Given the description of an element on the screen output the (x, y) to click on. 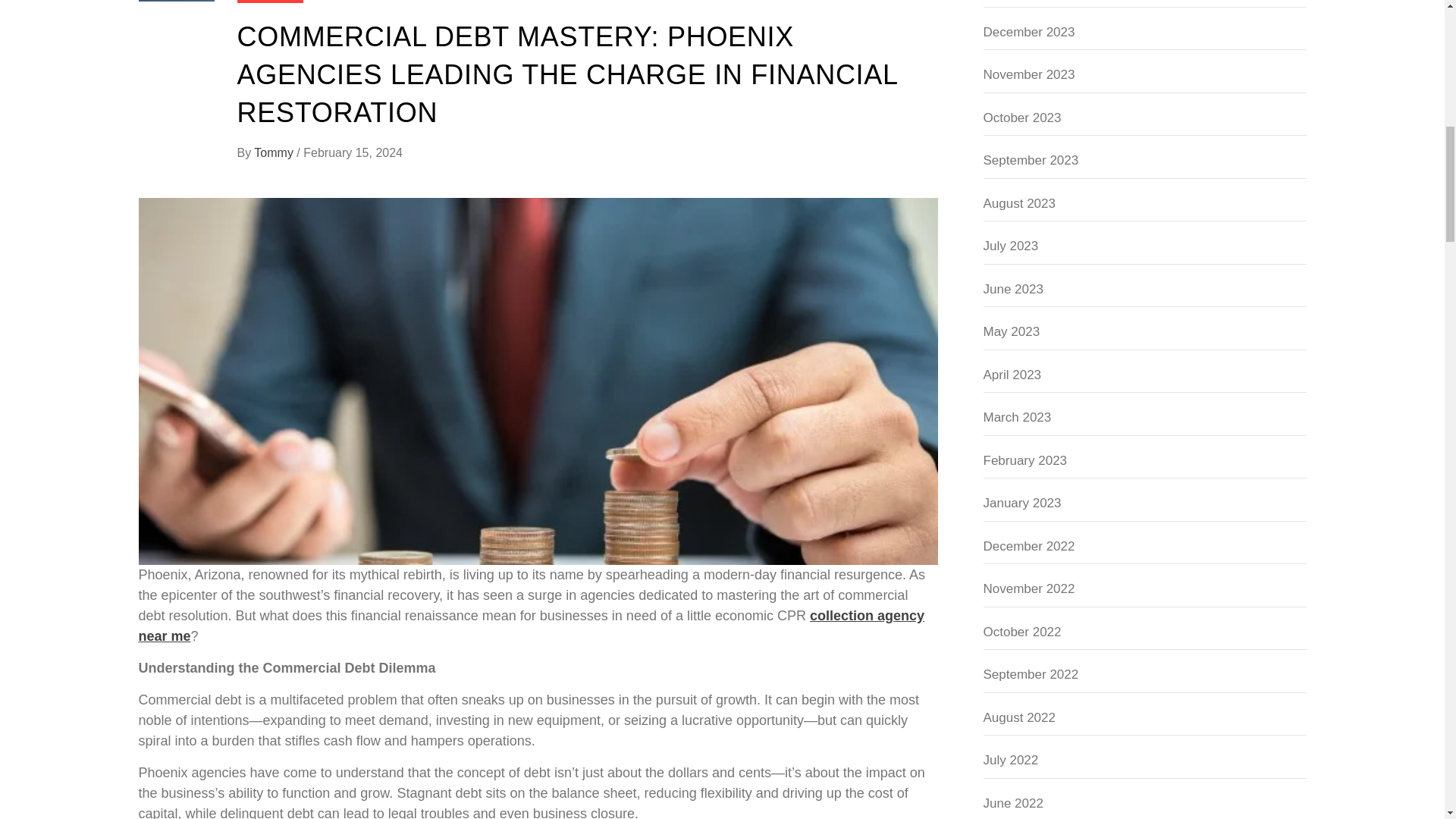
collection agency near me (531, 625)
Tommy (275, 152)
BUSINESS (268, 1)
